Given the description of an element on the screen output the (x, y) to click on. 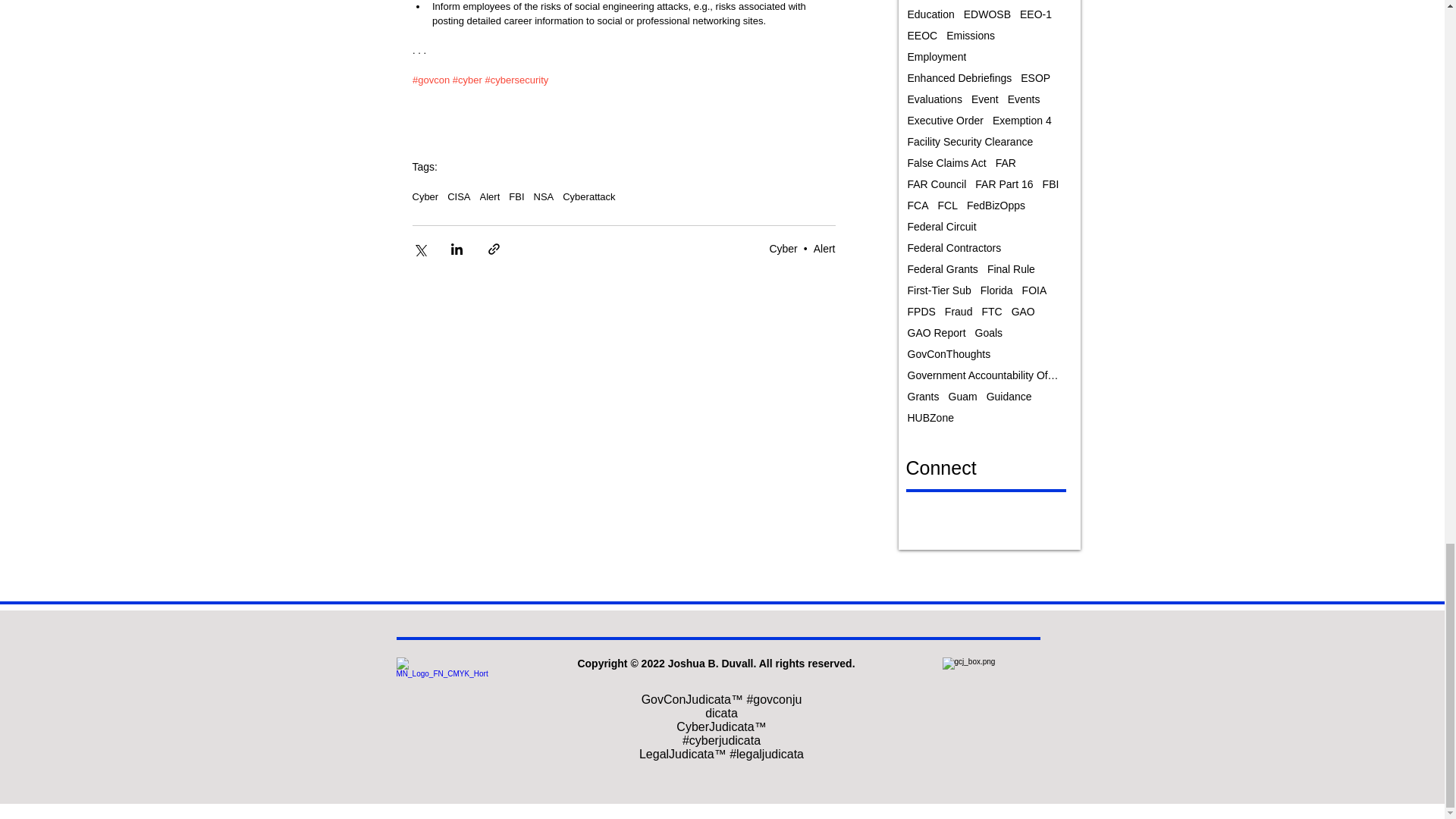
Cyber (425, 196)
Cyberattack (588, 196)
Matross Edwards.jpg (441, 703)
NSA (544, 196)
Cyber (782, 248)
Alert (824, 248)
CISA (458, 196)
Alert (490, 196)
FBI (516, 196)
